Given the description of an element on the screen output the (x, y) to click on. 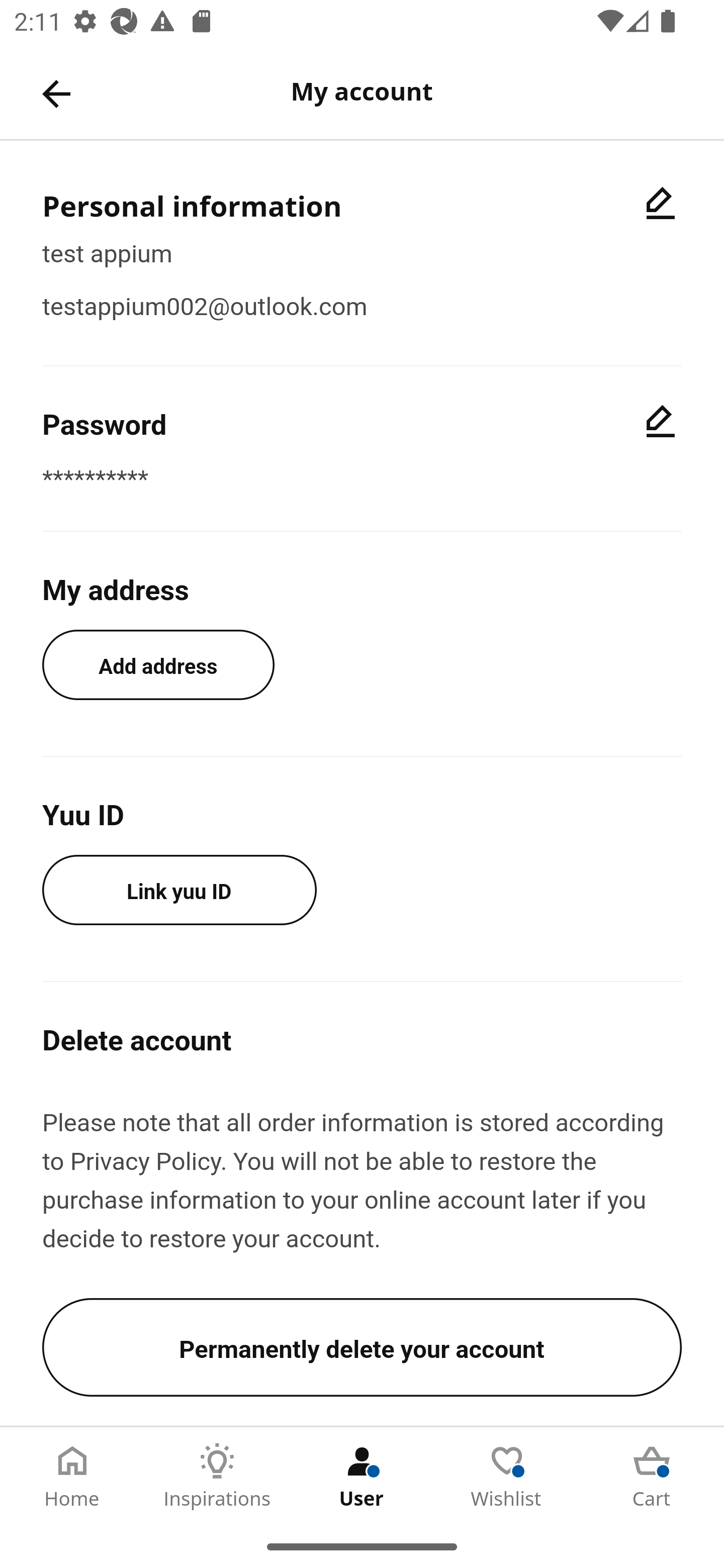
Add address (157, 664)
Link yuu ID (179, 889)
Permanently delete your account (361, 1347)
Home
Tab 1 of 5 (72, 1476)
Inspirations
Tab 2 of 5 (216, 1476)
User
Tab 3 of 5 (361, 1476)
Wishlist
Tab 4 of 5 (506, 1476)
Cart
Tab 5 of 5 (651, 1476)
